Given the description of an element on the screen output the (x, y) to click on. 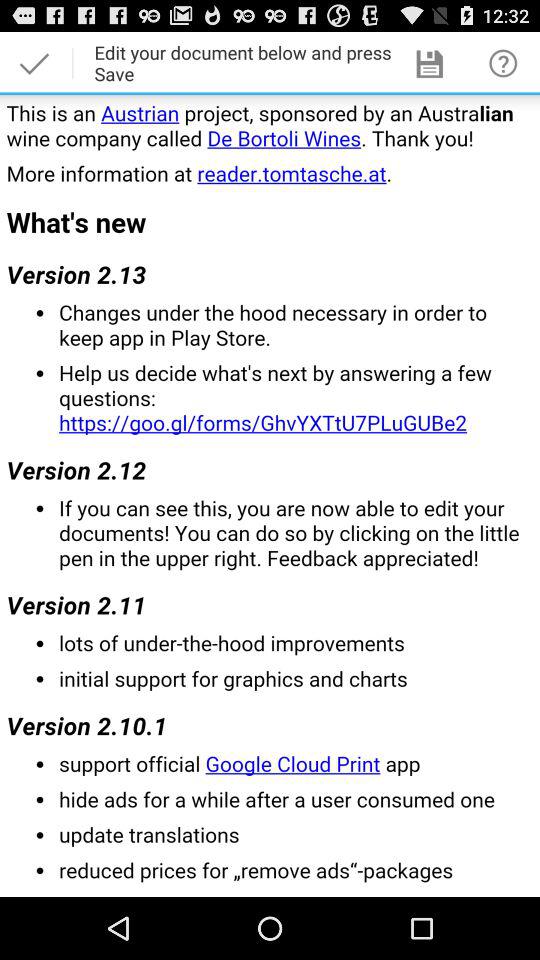
shows details page (270, 495)
